Given the description of an element on the screen output the (x, y) to click on. 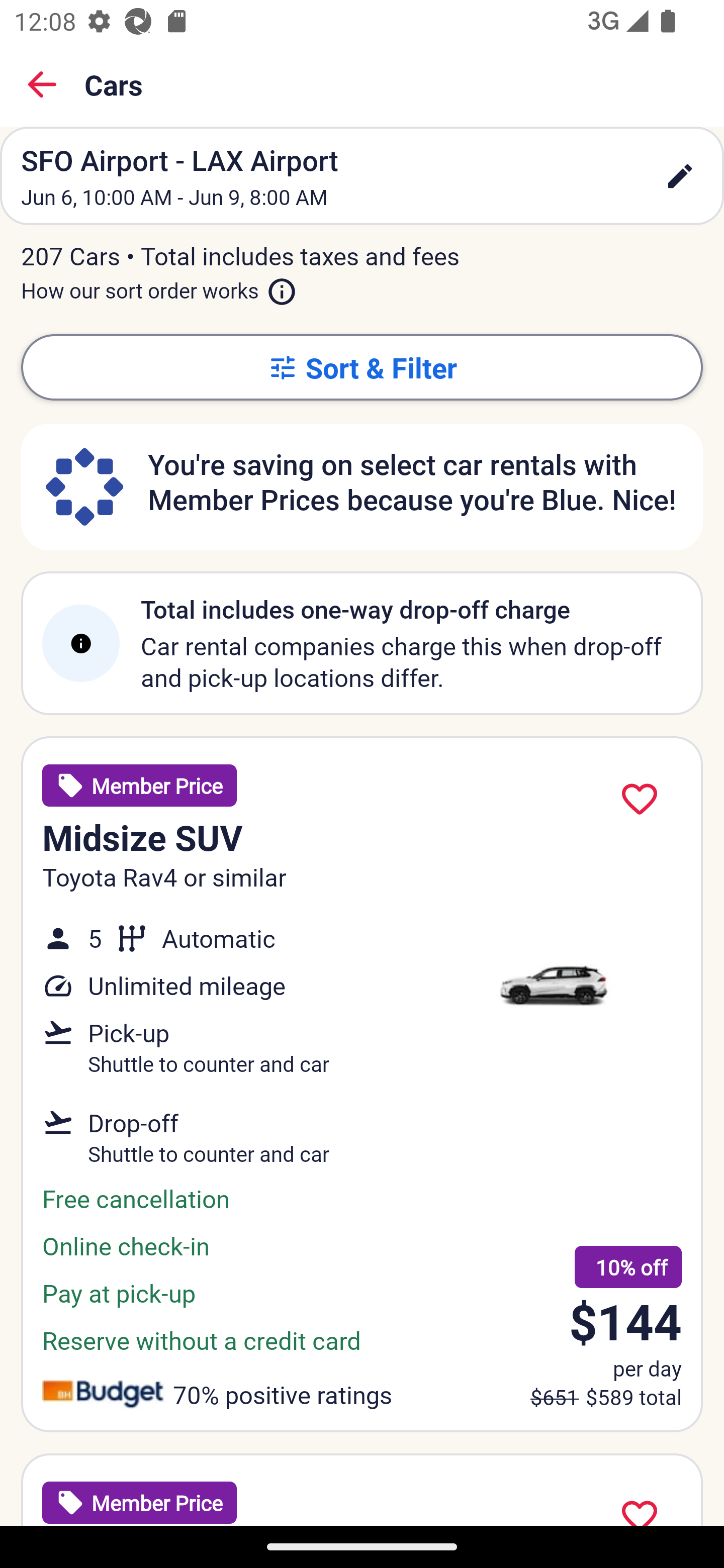
Back (42, 84)
edit (679, 175)
How our sort order works (158, 286)
Sort & Filter (361, 366)
